Given the description of an element on the screen output the (x, y) to click on. 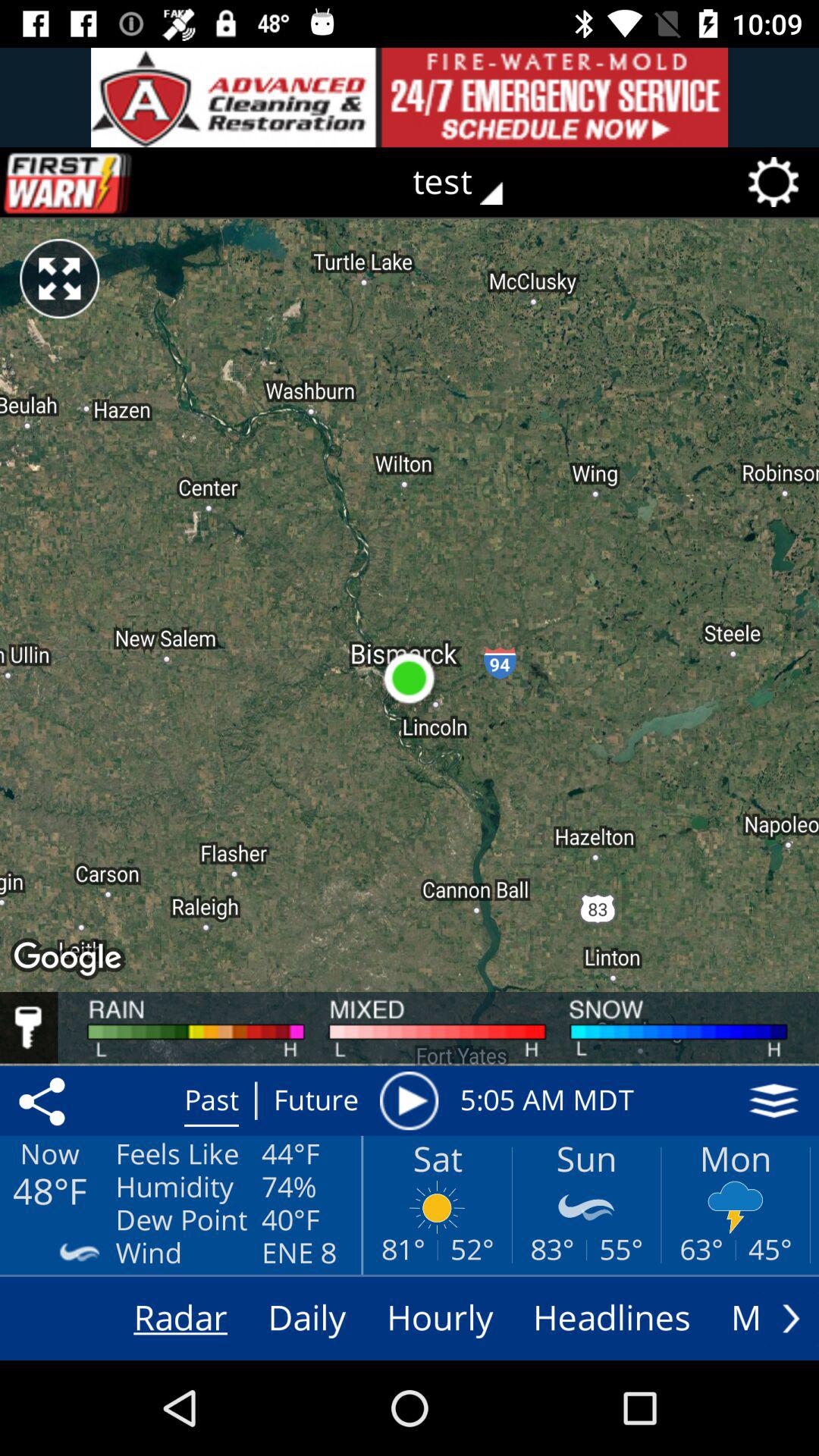
weather layer select (774, 1100)
